Given the description of an element on the screen output the (x, y) to click on. 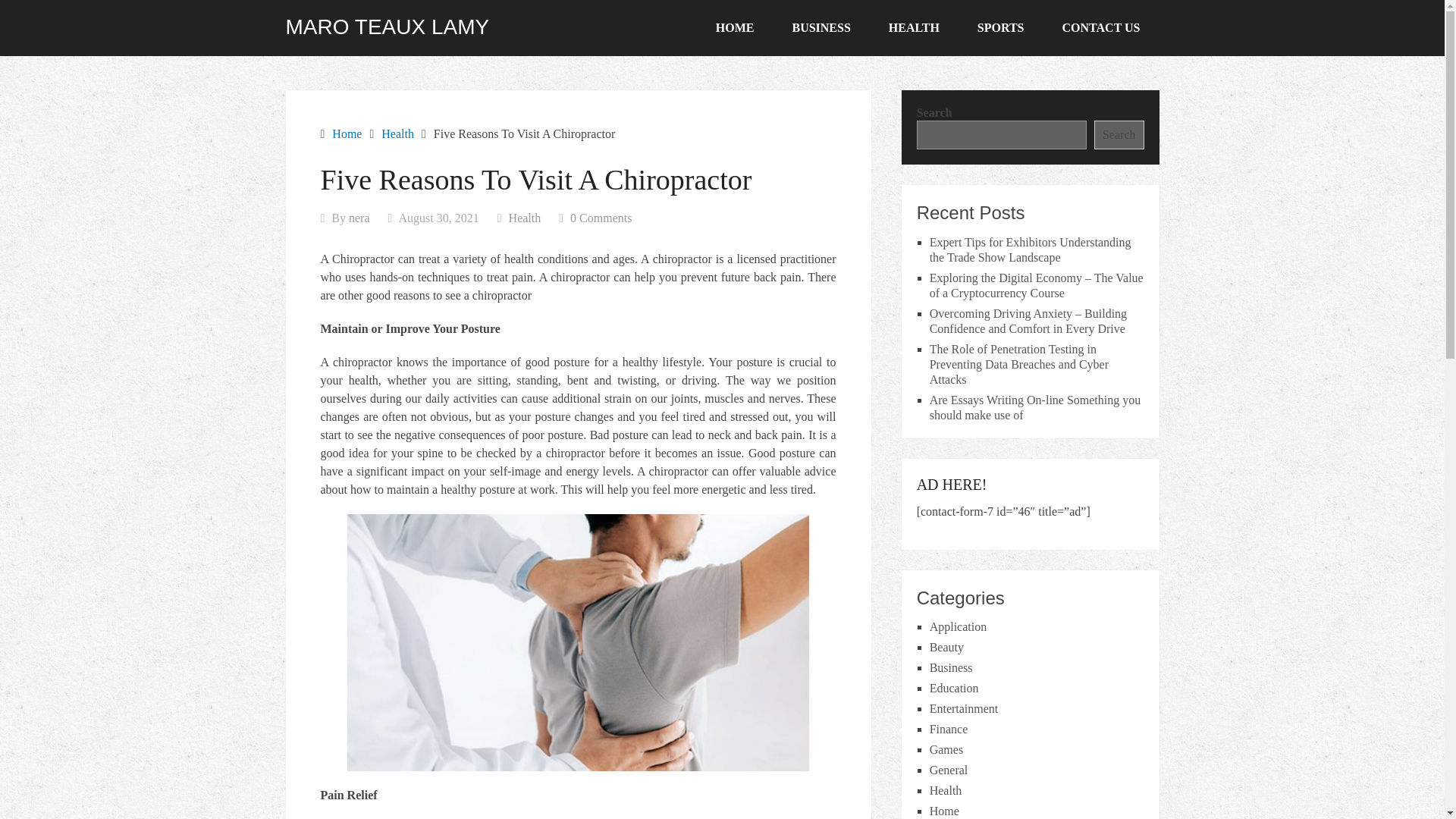
Are Essays Writing On-line Something you should make use of (1035, 407)
Health (946, 789)
Home (346, 133)
Finance (949, 728)
CONTACT US (1100, 28)
0 Comments (600, 217)
nera (359, 217)
Posts by nera (359, 217)
HEALTH (913, 28)
HOME (735, 28)
Health (397, 133)
Home (944, 810)
General (949, 769)
Health (524, 217)
SPORTS (1000, 28)
